Given the description of an element on the screen output the (x, y) to click on. 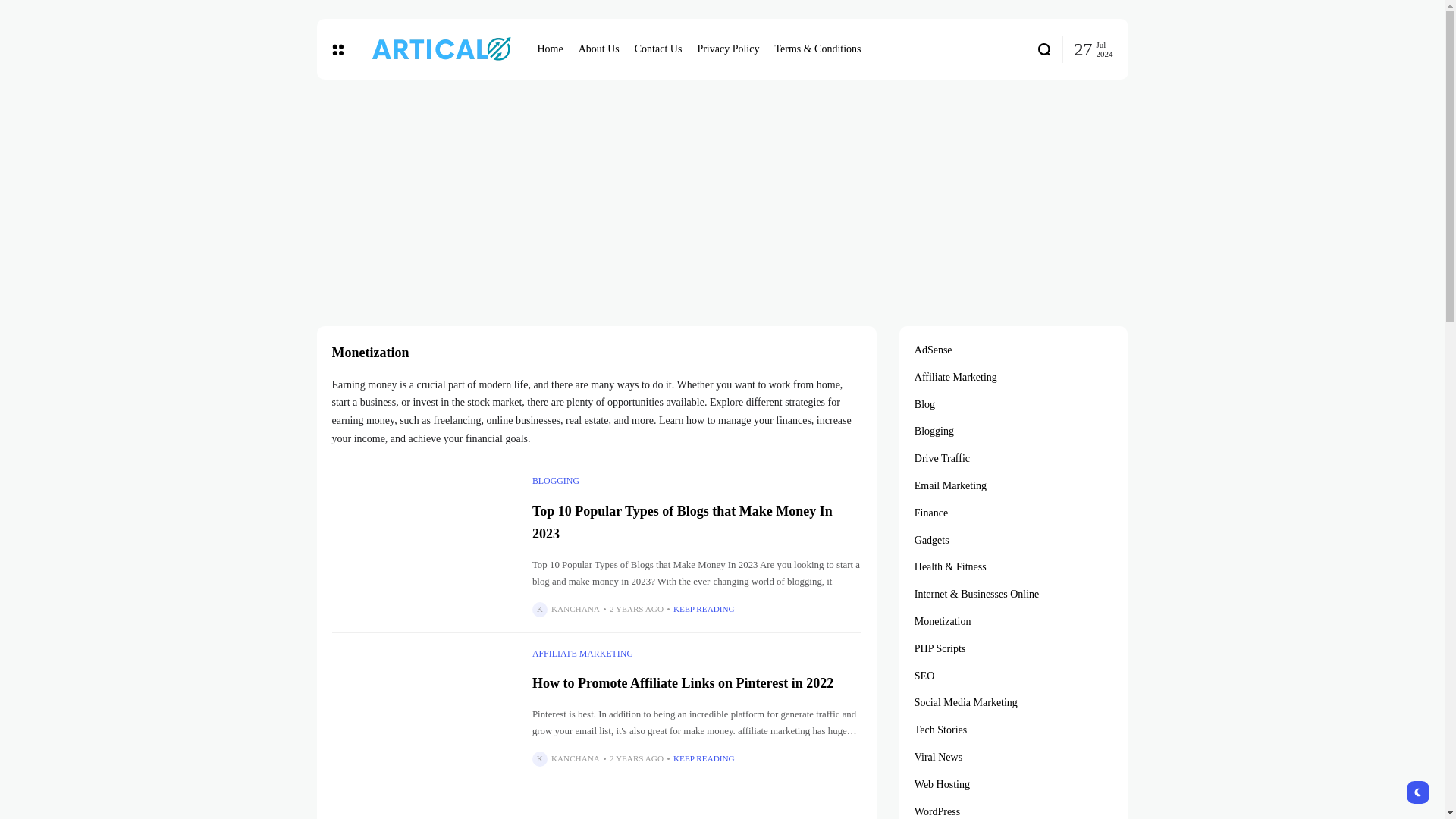
Top 10 Popular Types of Blogs that Make Money In 2023 (682, 522)
Top 10 Popular Types of Blogs that Make Money In 2023 (423, 544)
AFFILIATE MARKETING (582, 653)
Posts by kanchana (575, 608)
How to Promote Affiliate Links on Pinterest in 2022 (423, 716)
KANCHANA (575, 758)
KANCHANA (575, 608)
2 YEARS AGO (636, 758)
Privacy Policy (727, 48)
BLOGGING (555, 481)
2 YEARS AGO (636, 608)
Top 10 Popular Types of Blogs that Make Money In 2023 (682, 522)
How to Promote Affiliate Links on Pinterest in 2022 (682, 683)
KEEP READING (703, 758)
How to Promote Affiliate Links on Pinterest in 2022 (682, 683)
